Given the description of an element on the screen output the (x, y) to click on. 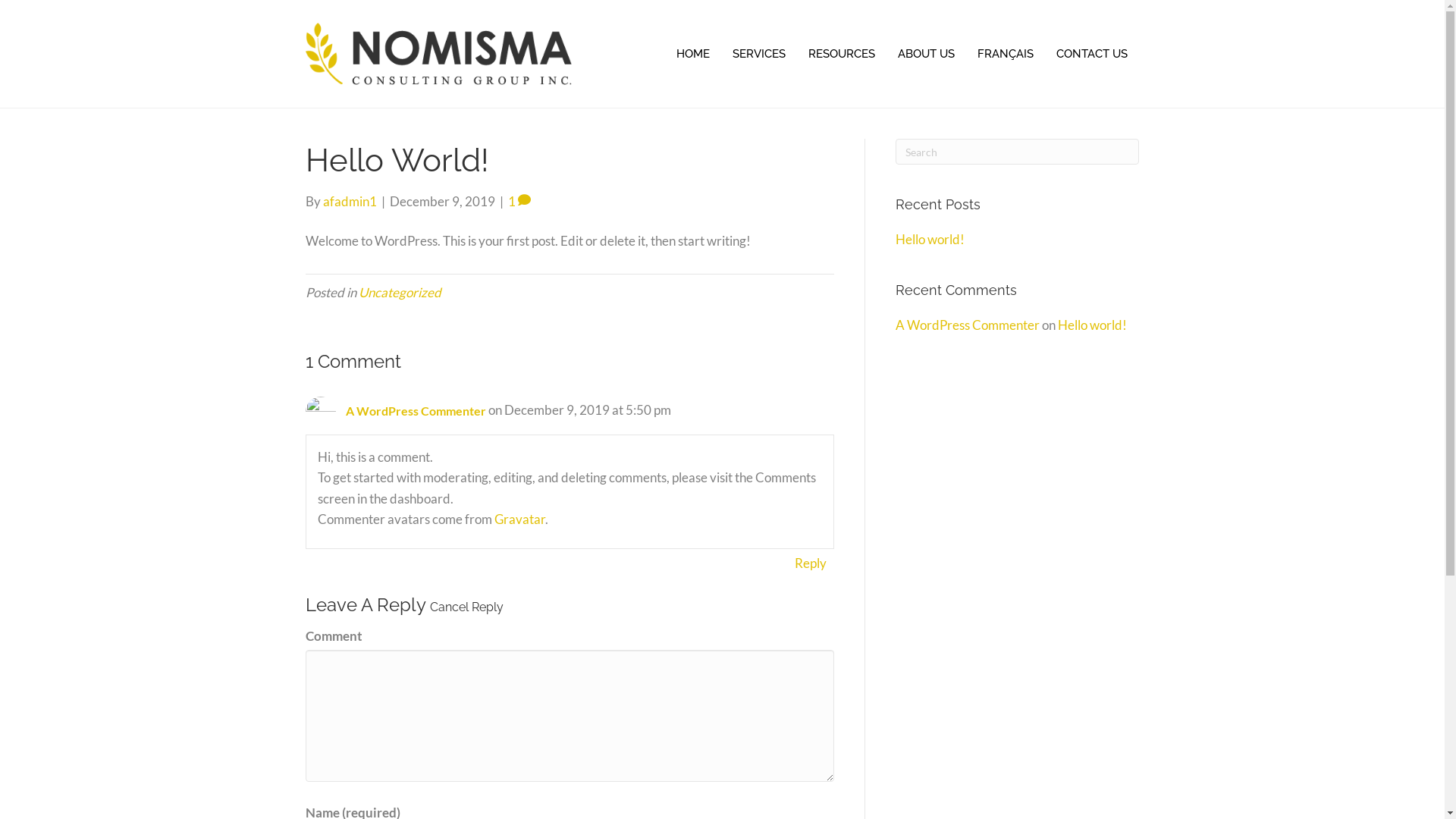
A WordPress Commenter Element type: text (415, 410)
1 Element type: text (519, 201)
SERVICES Element type: text (759, 53)
Hello world! Element type: text (929, 239)
Uncategorized Element type: text (398, 292)
CONTACT US Element type: text (1091, 53)
Hello world! Element type: text (1091, 324)
Cancel Reply Element type: text (465, 606)
HOME Element type: text (693, 53)
A WordPress Commenter Element type: text (967, 324)
afadmin1 Element type: text (349, 201)
Type and press Enter to search. Element type: hover (1017, 151)
Gravatar Element type: text (519, 519)
Reply Element type: text (810, 562)
ABOUT US Element type: text (926, 53)
RESOURCES Element type: text (841, 53)
